Given the description of an element on the screen output the (x, y) to click on. 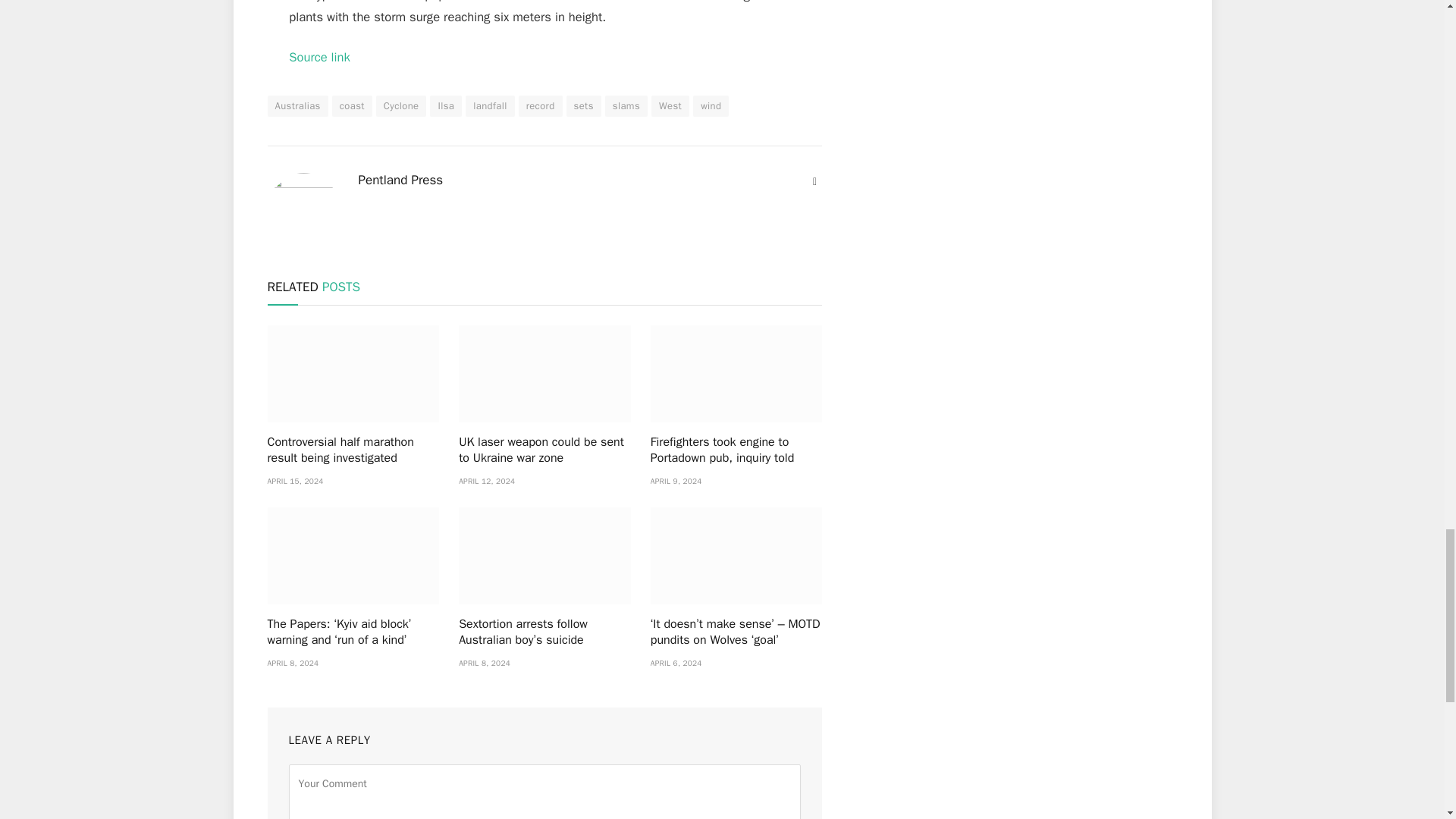
UK laser weapon could be sent to Ukraine war zone (544, 373)
Australias (296, 106)
Website (814, 181)
Source link (319, 57)
Cyclone (400, 106)
Controversial half marathon result being investigated (352, 373)
Posts by Pentland Press (400, 180)
landfall (489, 106)
Ilsa (445, 106)
coast (351, 106)
